Given the description of an element on the screen output the (x, y) to click on. 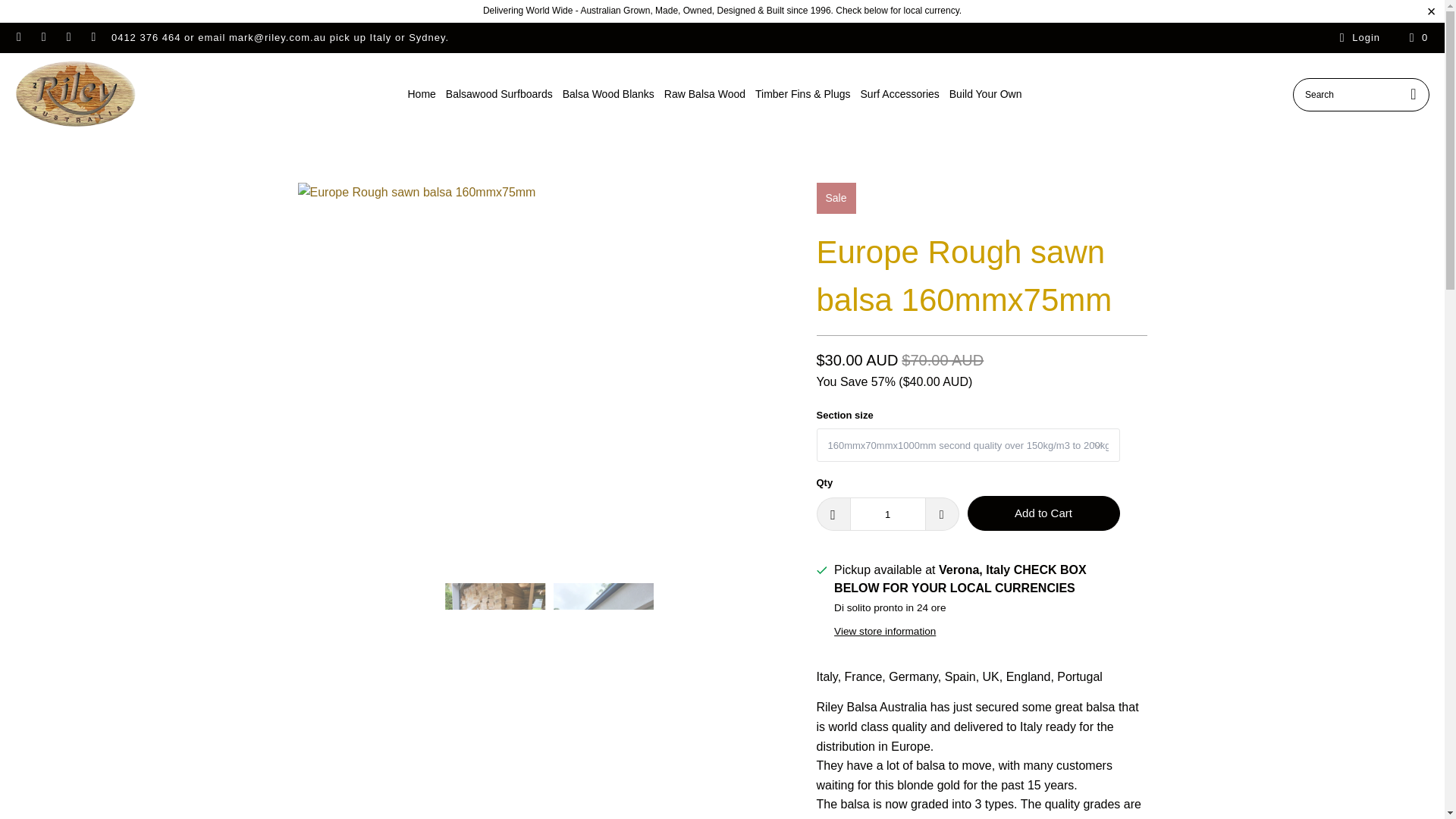
My Account  (1357, 37)
Riley Balsa Wood Surfboards on YouTube (92, 37)
1 (886, 513)
Riley Balsa Wood Surfboards on Facebook (42, 37)
Riley Balsa Wood Surfboards (75, 94)
Riley Balsa Wood Surfboards on Instagram (68, 37)
Email Riley Balsa Wood Surfboards (17, 37)
